Given the description of an element on the screen output the (x, y) to click on. 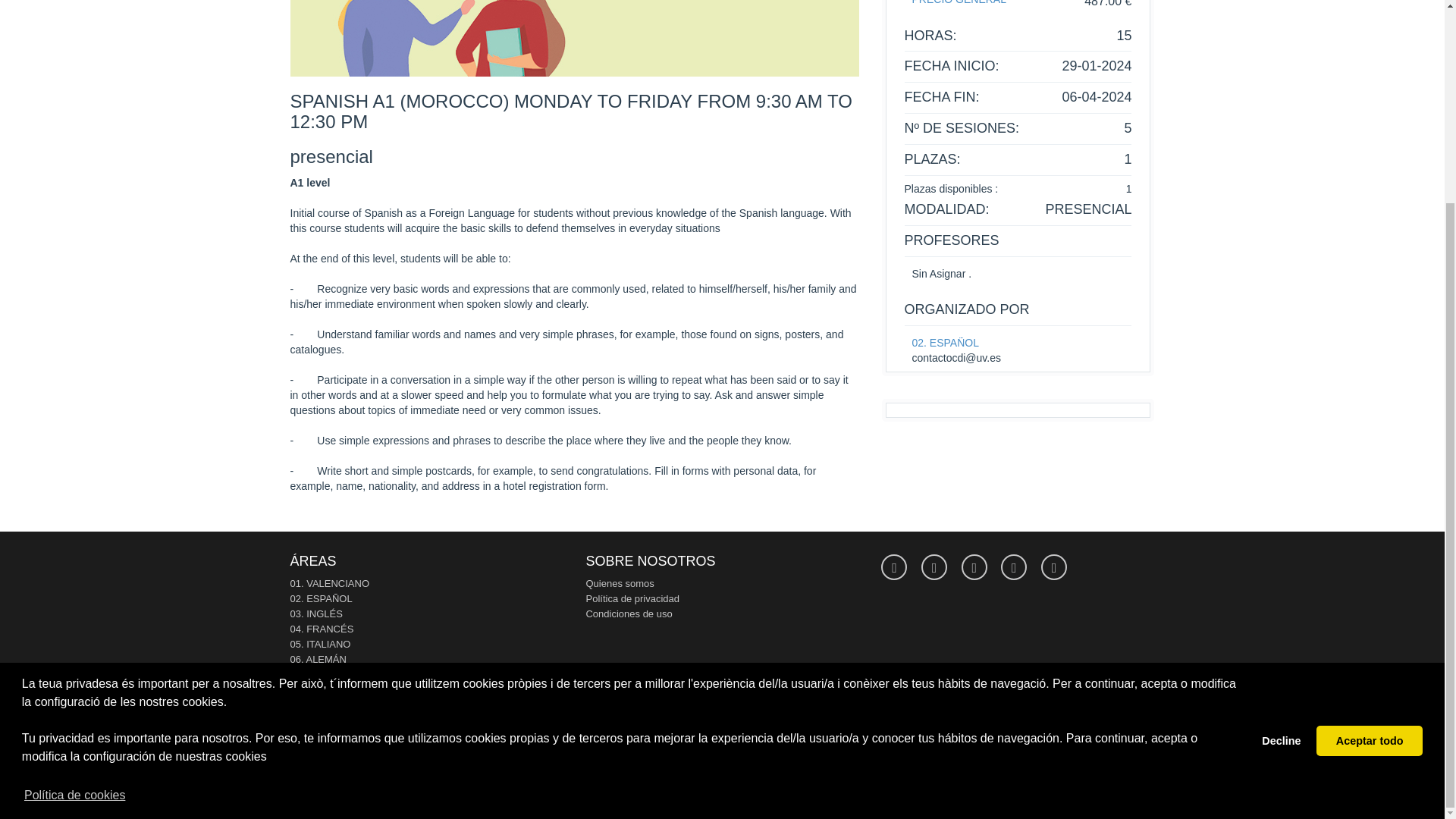
05. ITALIANO (319, 644)
Aceptar todo (1369, 481)
01. VALENCIANO (329, 583)
11. RUSO (311, 735)
08. COREANO (322, 689)
Decline (1281, 481)
PRECIO GENERAL (958, 2)
Condiciones de uso (628, 613)
CARTA RESERVA DE PLAZA (354, 749)
Quienes somos (619, 583)
